Given the description of an element on the screen output the (x, y) to click on. 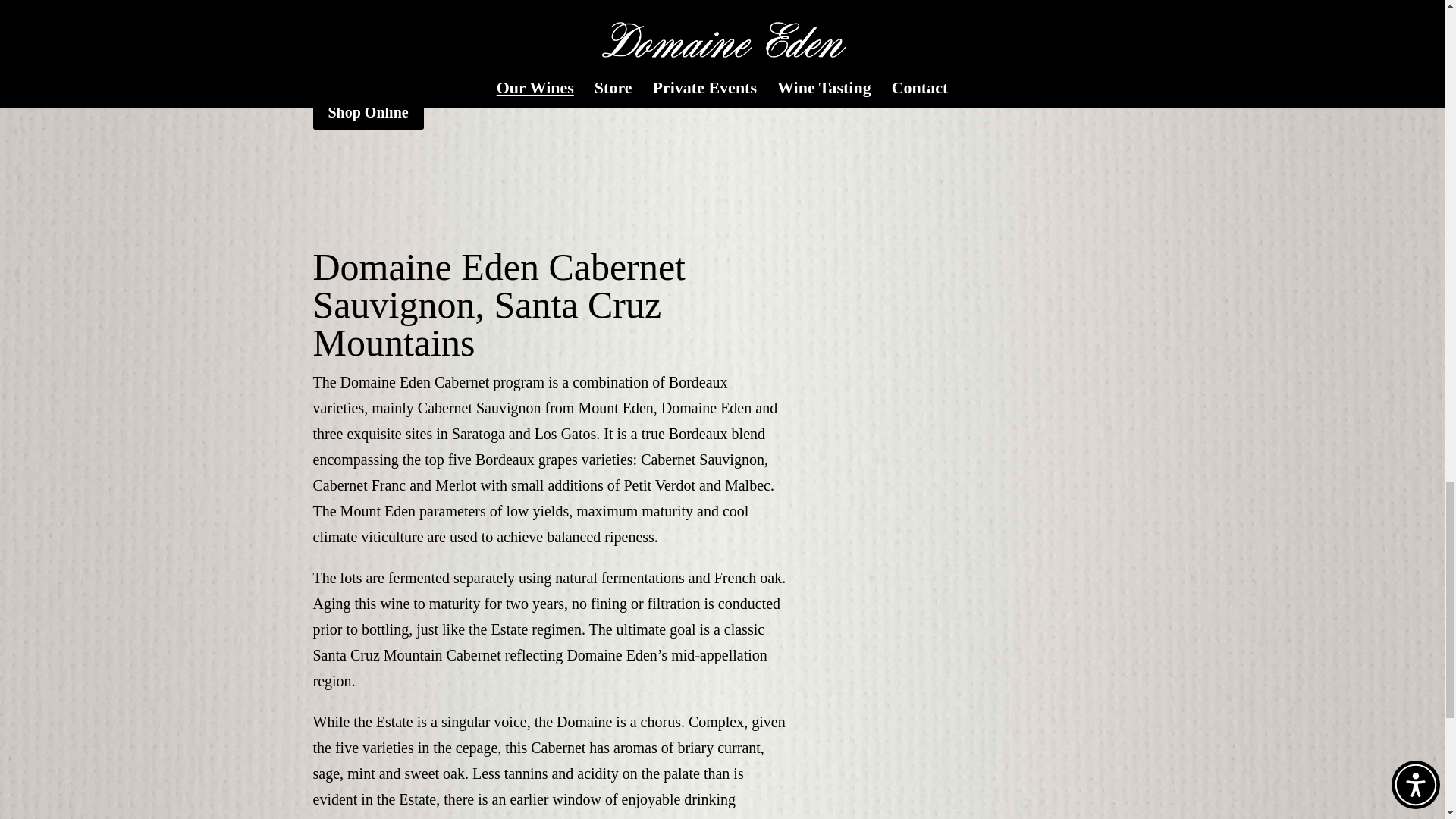
Shop Online (368, 112)
